Given the description of an element on the screen output the (x, y) to click on. 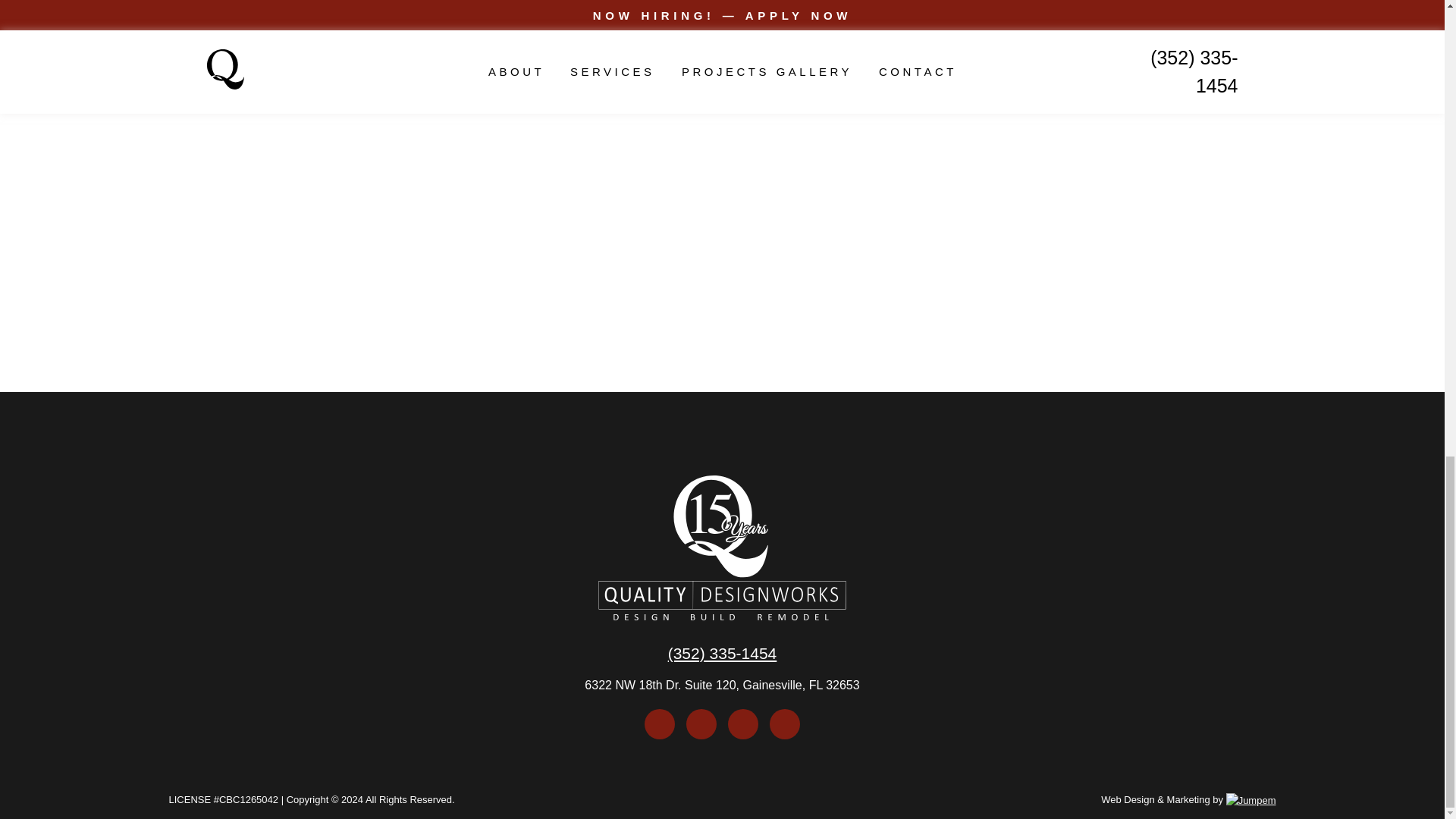
After Image9 (1173, 296)
After Image8 (1173, 164)
After Image7 (1173, 48)
After Image10 (1173, 428)
